Given the description of an element on the screen output the (x, y) to click on. 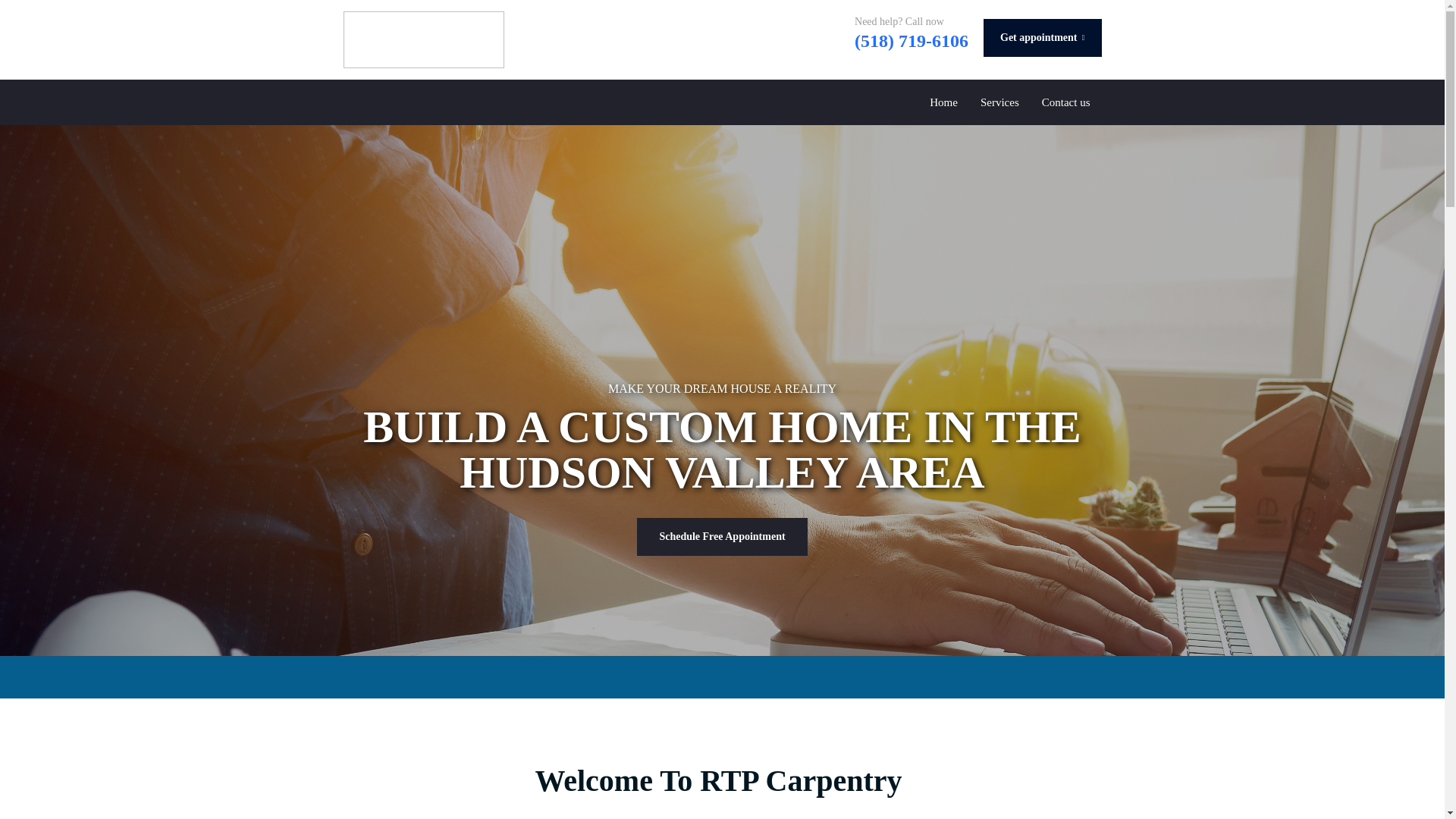
Schedule Free Appointment (722, 536)
Services (999, 102)
Home (943, 102)
Get appointment (1043, 37)
Contact us (1066, 102)
